Given the description of an element on the screen output the (x, y) to click on. 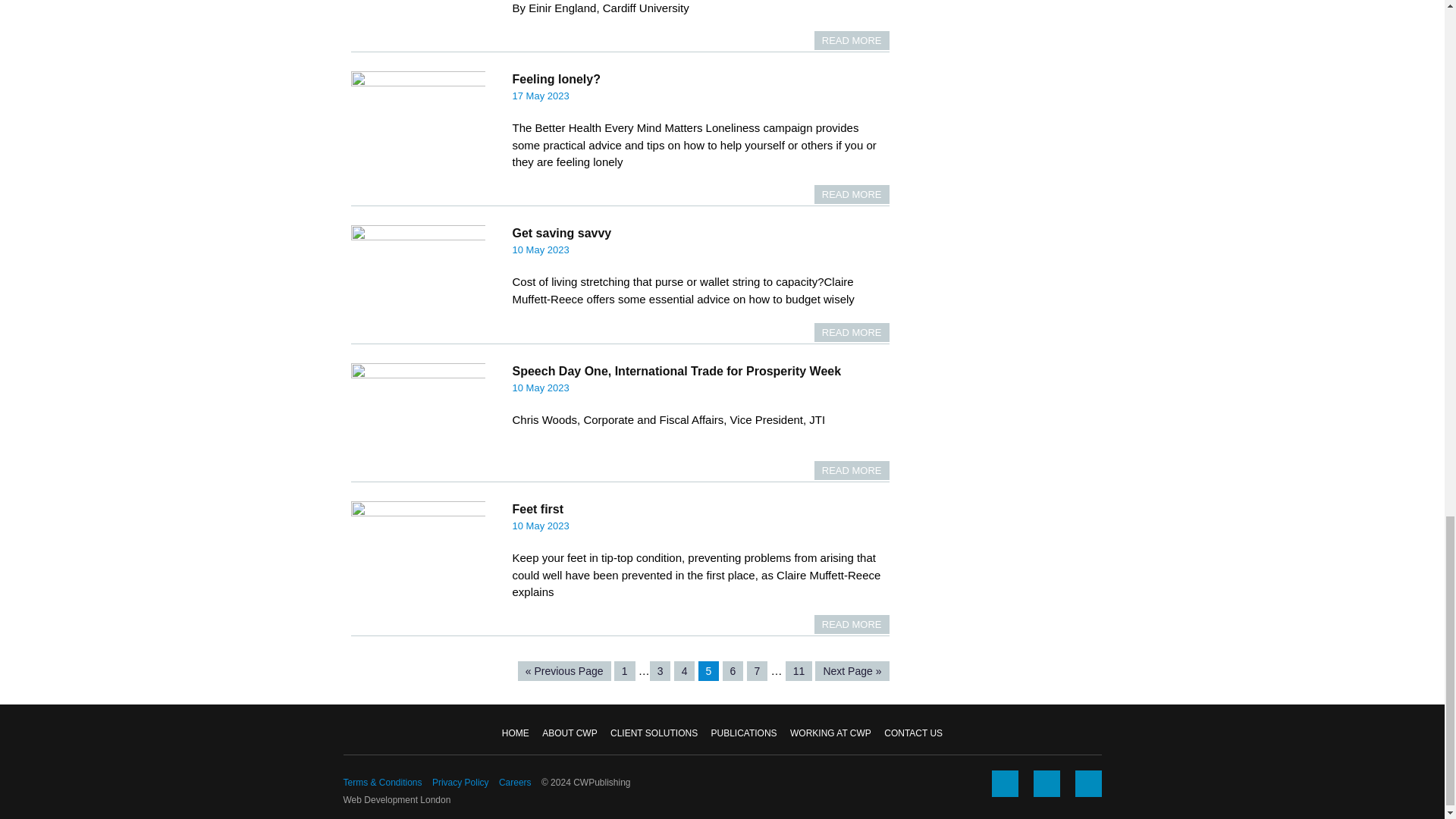
Feeling lonely? (555, 78)
1 (624, 670)
READ MORE (851, 470)
Get saving savvy (561, 232)
READ MORE (851, 194)
Link to Get saving savvy (561, 232)
READ MORE (851, 40)
READ MORE (851, 624)
READ MORE (851, 332)
Link to Get saving savvy (851, 332)
